Given the description of an element on the screen output the (x, y) to click on. 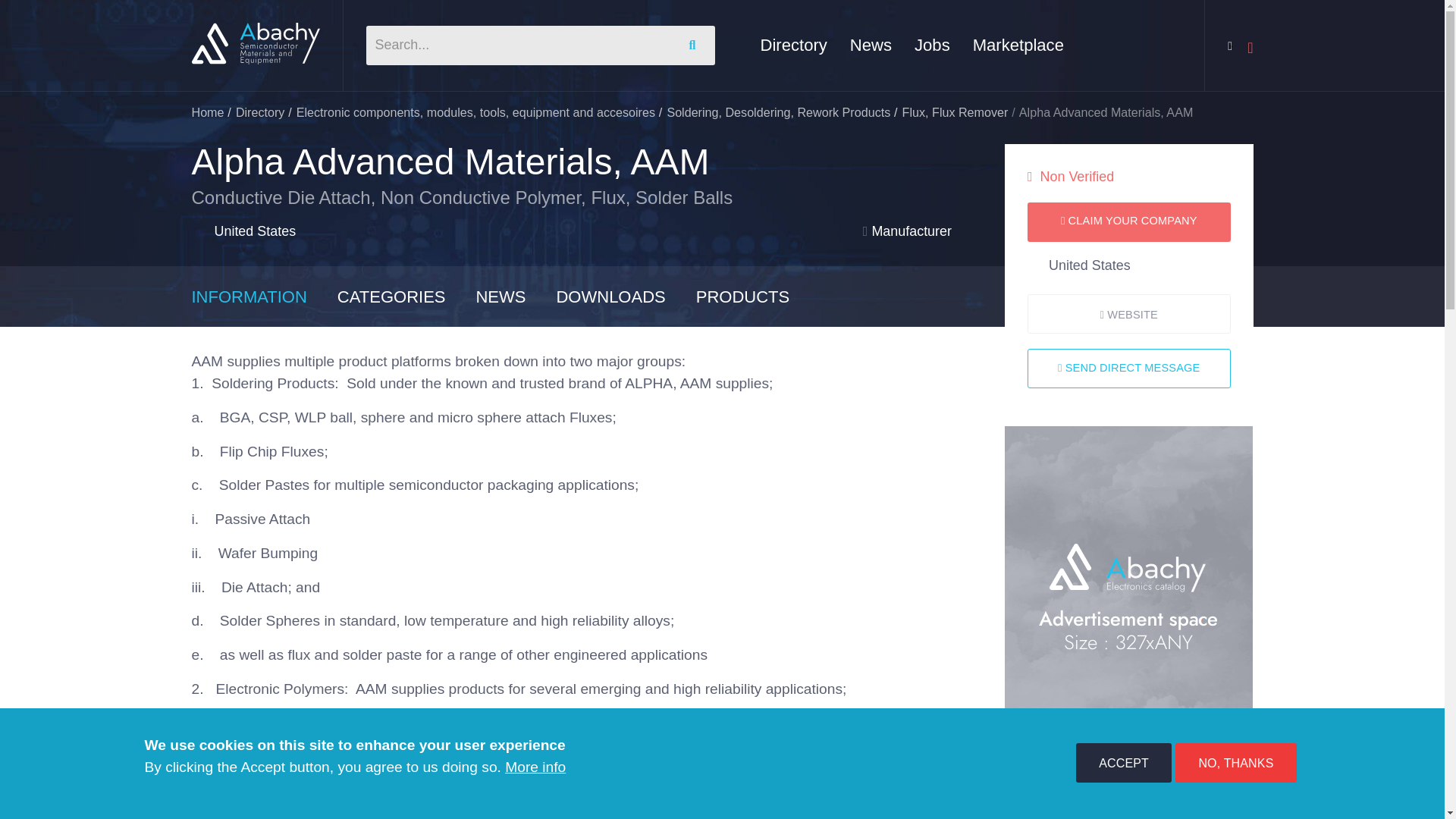
Home (207, 111)
PRODUCTS (757, 296)
NEWS (516, 296)
Directory (260, 111)
News (870, 44)
Jobs (932, 44)
Flux, Flux Remover (955, 111)
Search (694, 45)
Directory (793, 44)
Semiconductor Materials and Equipment  (254, 43)
